Given the description of an element on the screen output the (x, y) to click on. 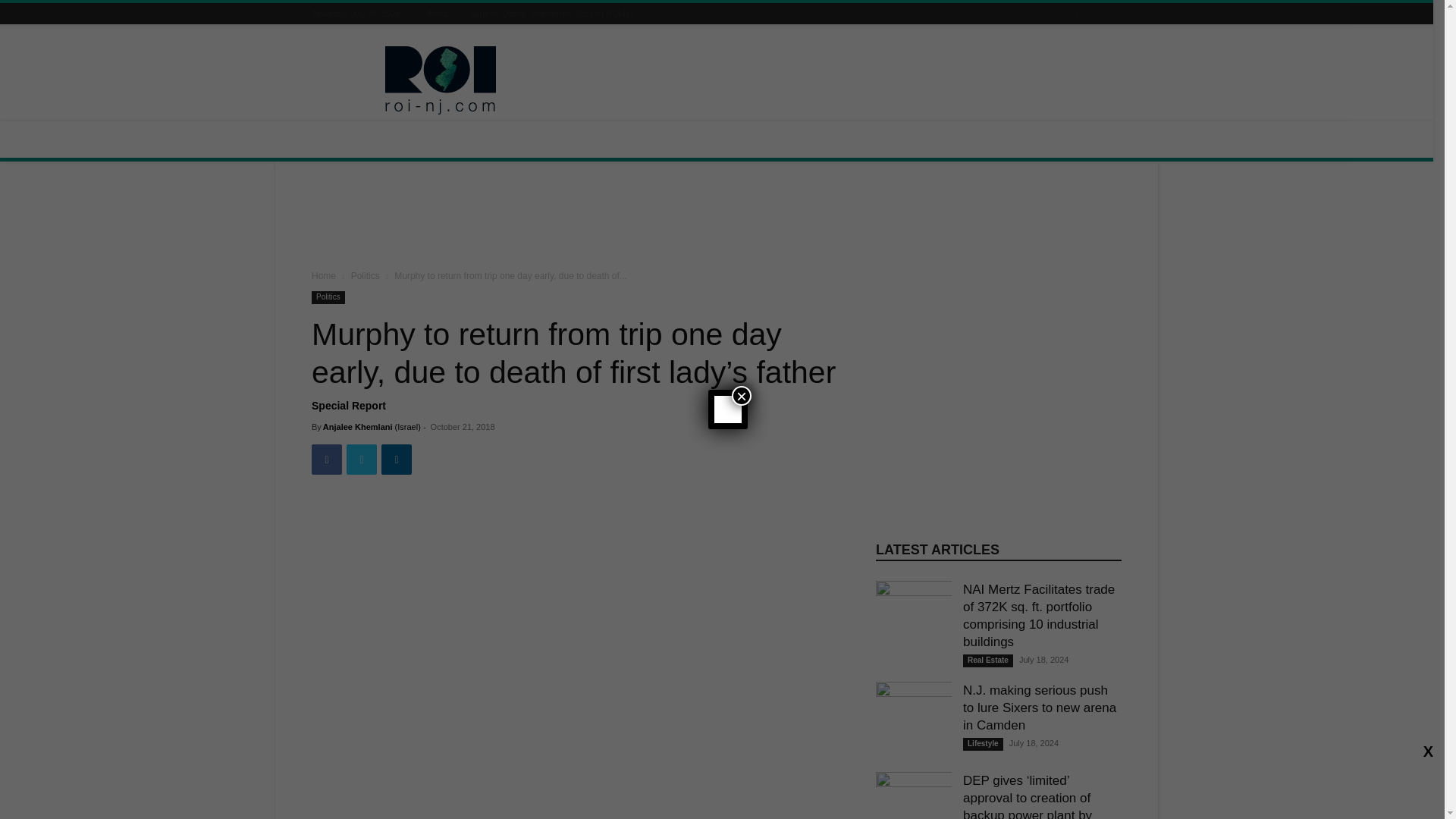
Linkedin (396, 459)
View all posts in Politics (365, 276)
3rd party ad content (845, 79)
Facebook (326, 459)
3rd party ad content (716, 218)
Twitter (361, 459)
